Given the description of an element on the screen output the (x, y) to click on. 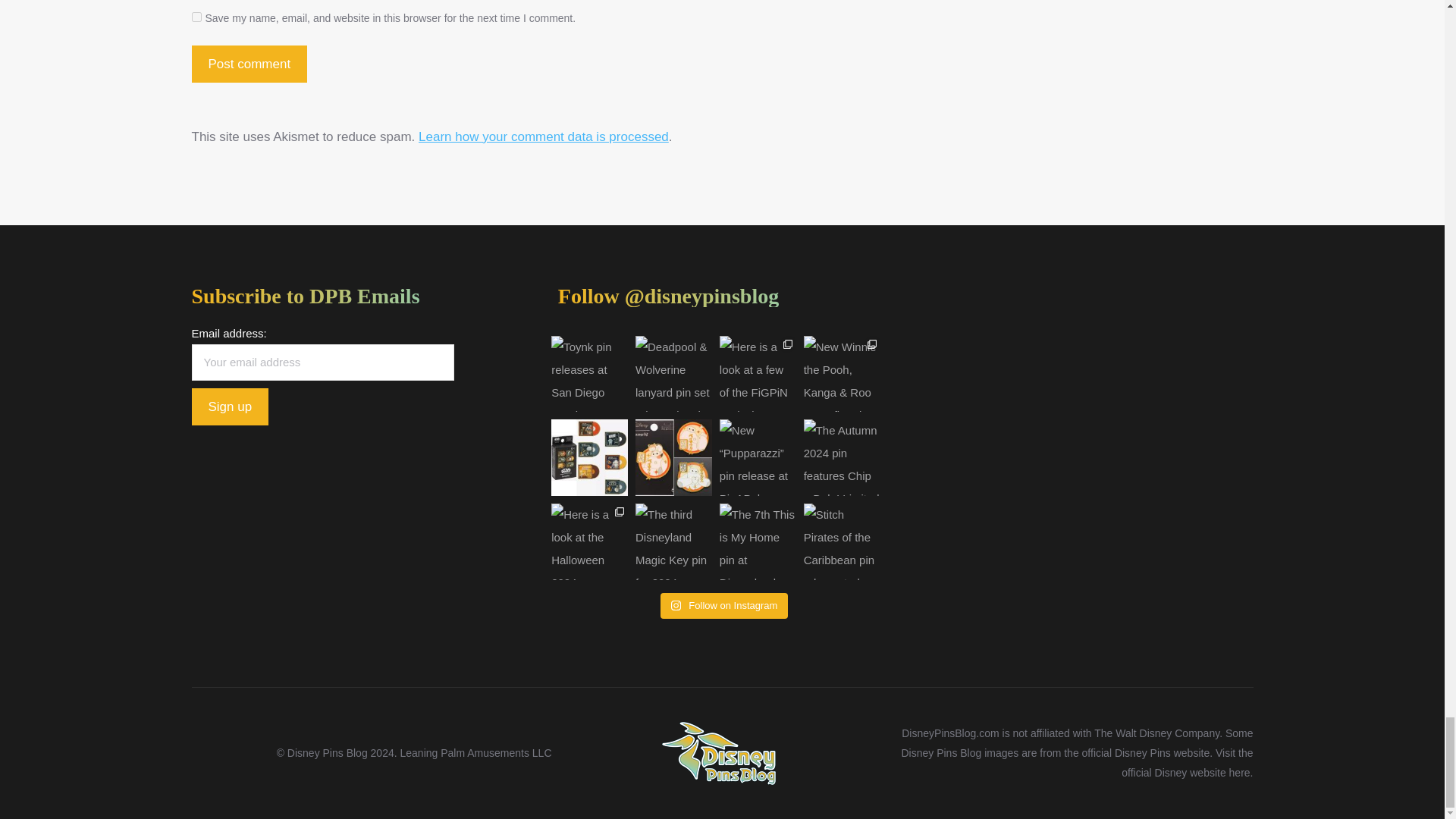
yes (195, 17)
Sign up (228, 406)
